Given the description of an element on the screen output the (x, y) to click on. 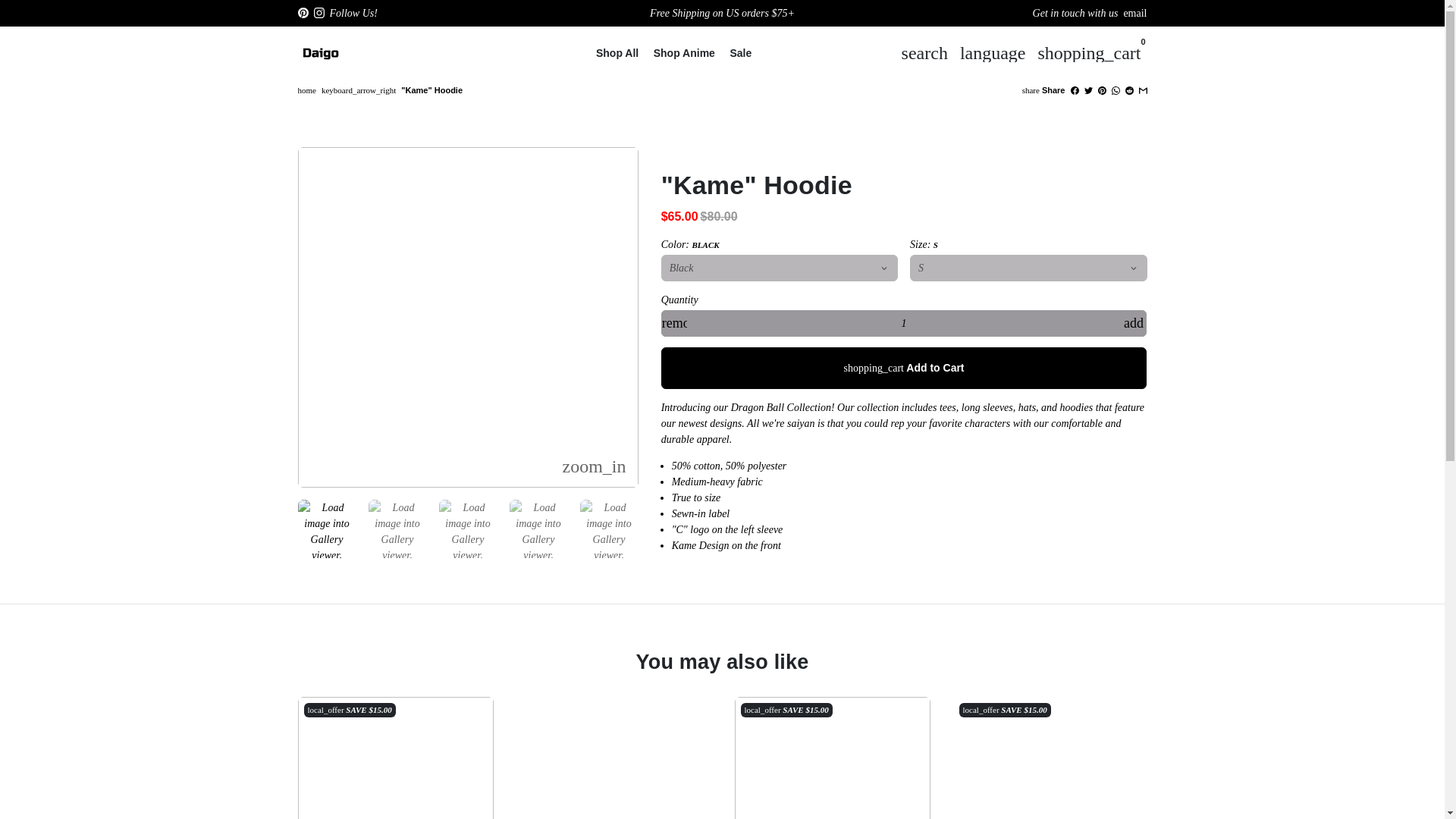
Shop All (617, 51)
"Kame" Hoodie (432, 90)
home (306, 90)
Daigo on Pinterest (302, 12)
Share on Reddit (1129, 90)
Search (924, 52)
Sale (740, 51)
Share on Facebook (1074, 90)
language (992, 52)
